Given the description of an element on the screen output the (x, y) to click on. 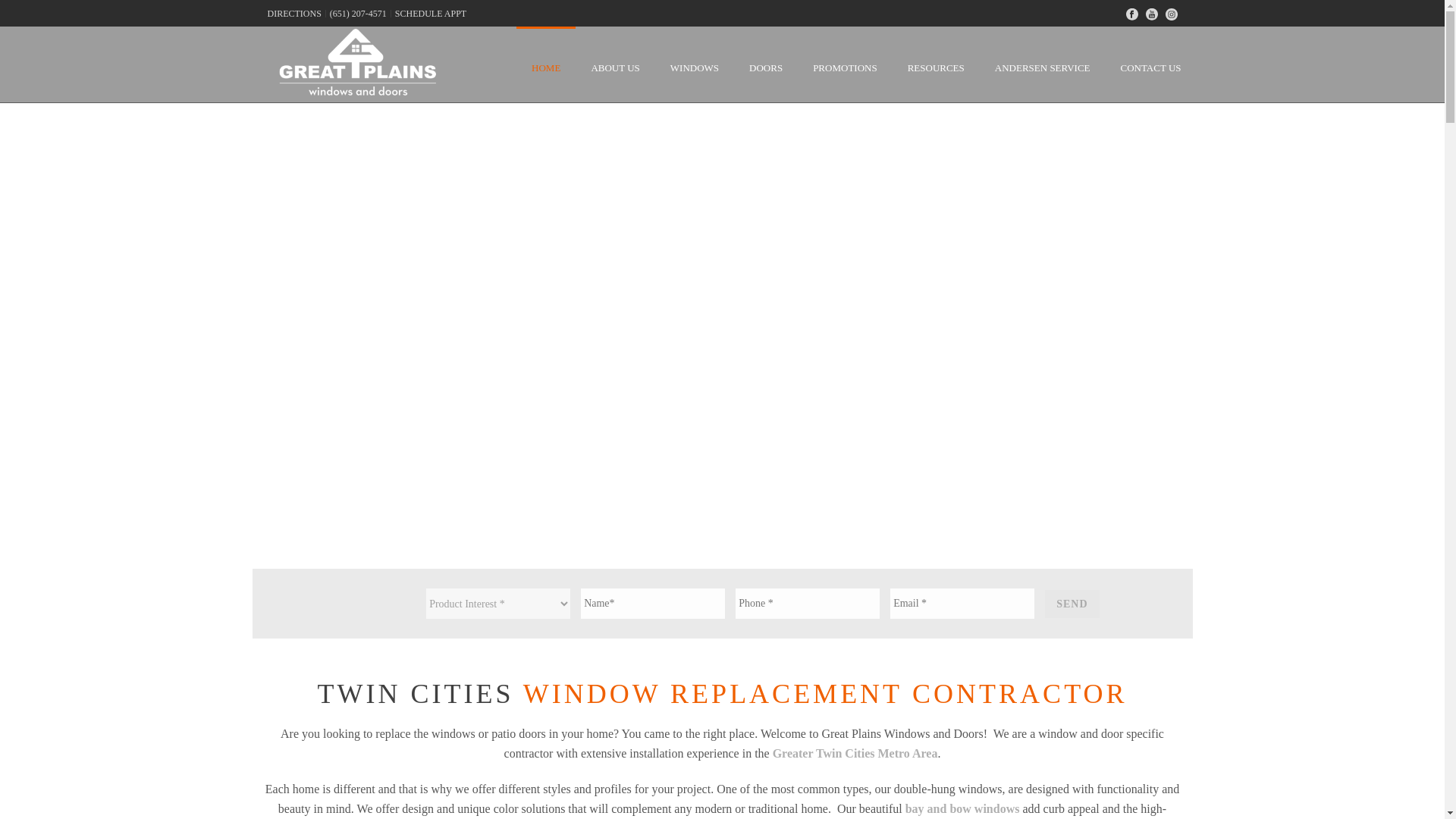
PROMOTIONS (844, 64)
DIRECTIONS (294, 13)
ANDERSEN SERVICE (1042, 64)
ABOUT US (614, 64)
ABOUT US (614, 64)
CONTACT US (1150, 64)
SCHEDULE APPT (430, 13)
RESOURCES (935, 64)
WINDOWS (694, 64)
